Given the description of an element on the screen output the (x, y) to click on. 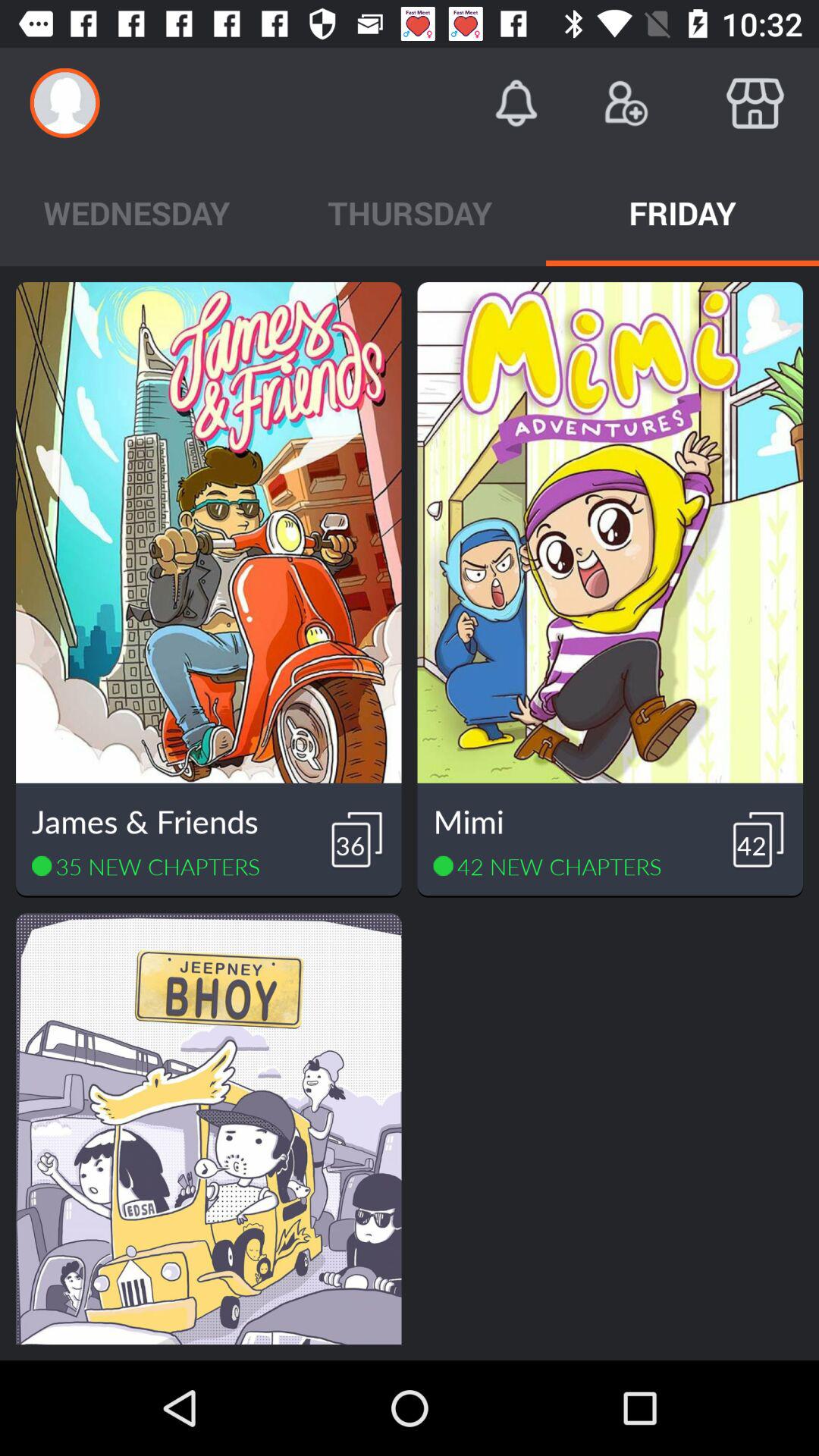
press icon to the right of thursday  icon (682, 212)
